Given the description of an element on the screen output the (x, y) to click on. 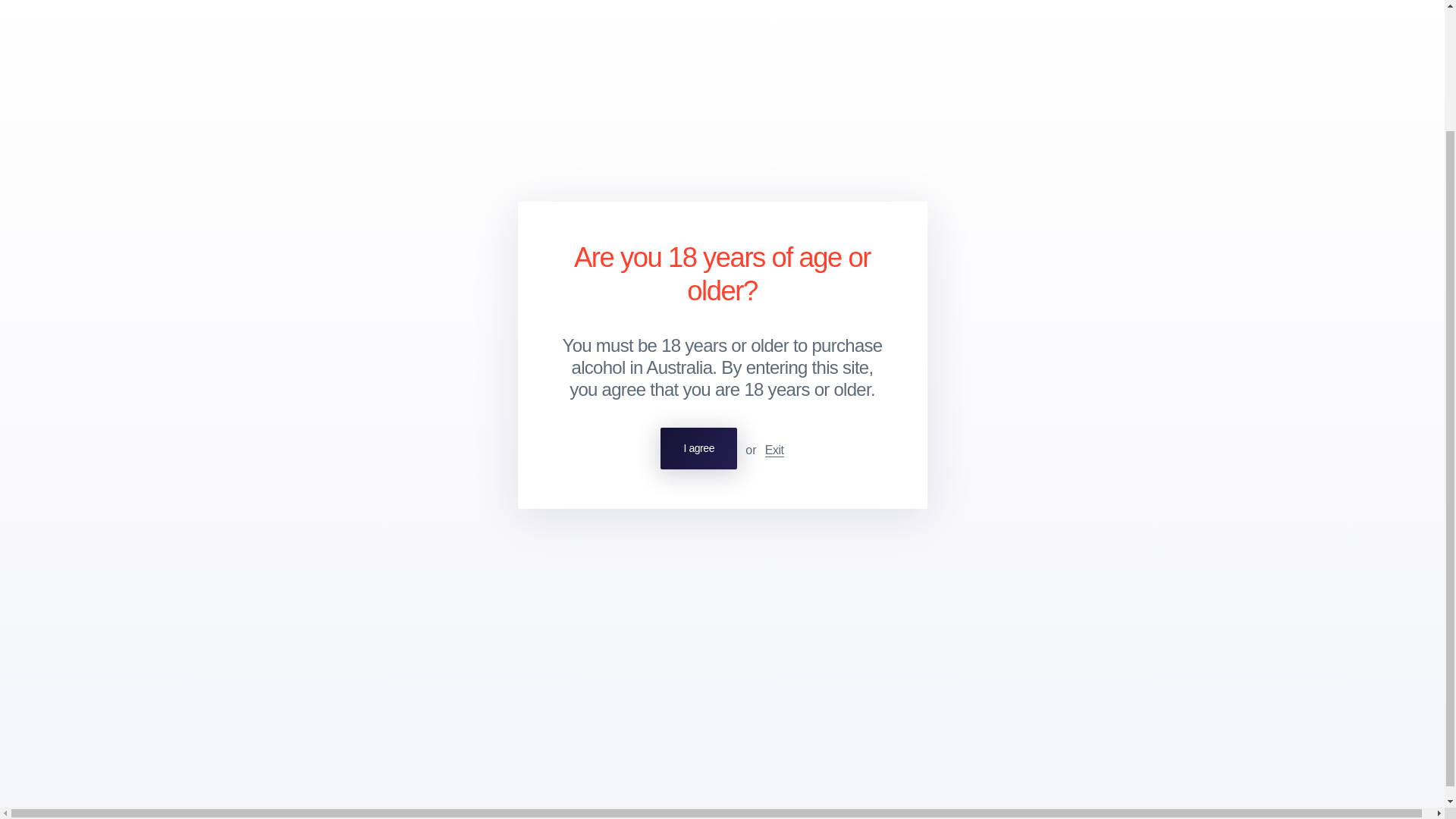
I agree (698, 300)
Sold out (472, 320)
Exit (774, 301)
1 (316, 320)
- (274, 320)
Wine details (289, 199)
Tasting notes (369, 199)
